Given the description of an element on the screen output the (x, y) to click on. 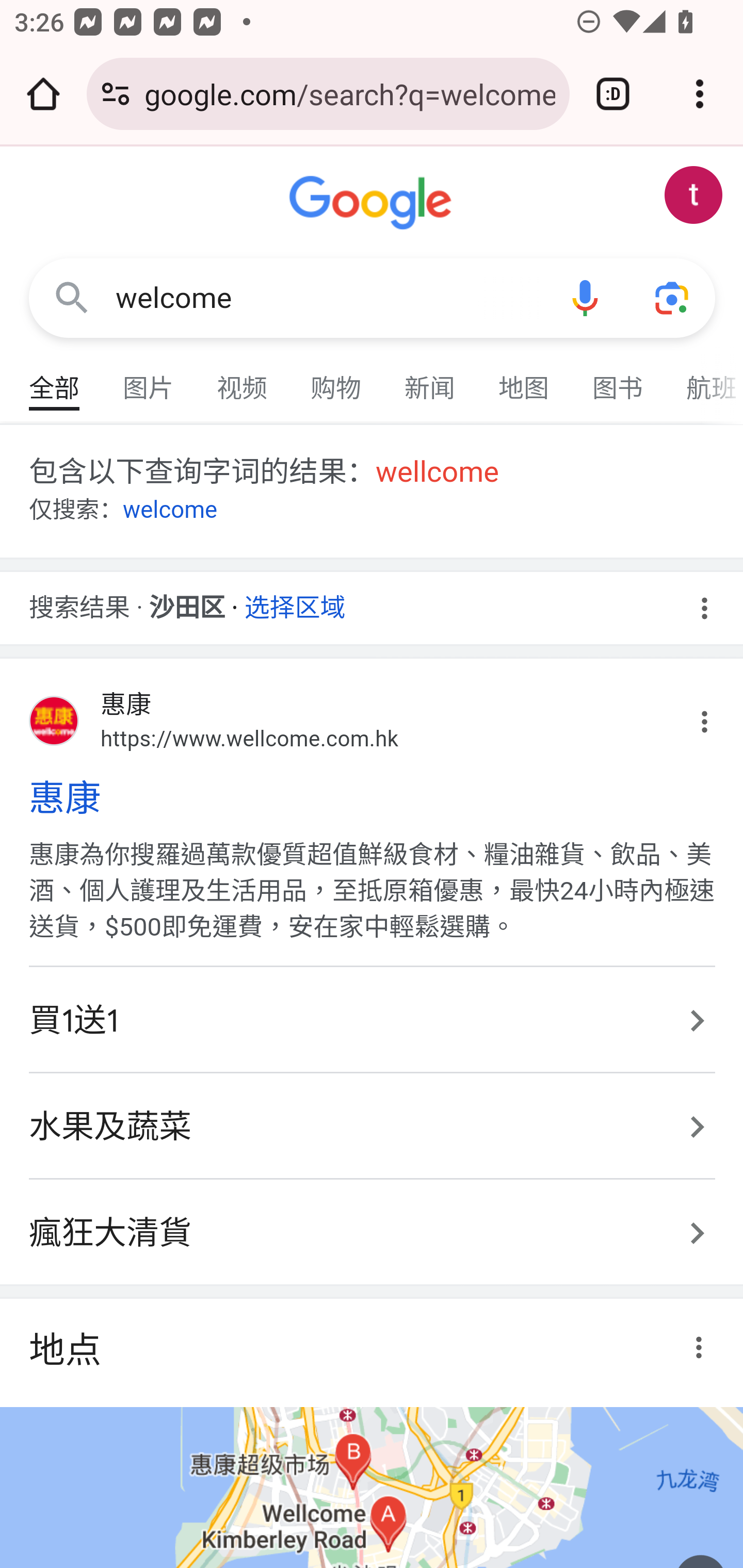
Open the home page (43, 93)
Connection is secure (115, 93)
Switch or close tabs (612, 93)
Customize and control Google Chrome (699, 93)
Google (372, 203)
Google 账号： test appium (testappium002@gmail.com) (694, 195)
Google 搜索 (71, 296)
使用拍照功能或照片进行搜索 (672, 296)
welcome (328, 297)
图片 (148, 378)
视频 (242, 378)
购物 (336, 378)
新闻 (430, 378)
地图 (524, 378)
图书 (618, 378)
航班 (703, 378)
wellcome (437, 472)
welcome (170, 510)
选择区域 (294, 601)
惠康 (372, 798)
買1送1 (372, 1020)
水果及蔬菜 (372, 1127)
瘋狂大清貨 (372, 1222)
关于这条结果的详细信息 (702, 1347)
welcome地图 (371, 1487)
